Given the description of an element on the screen output the (x, y) to click on. 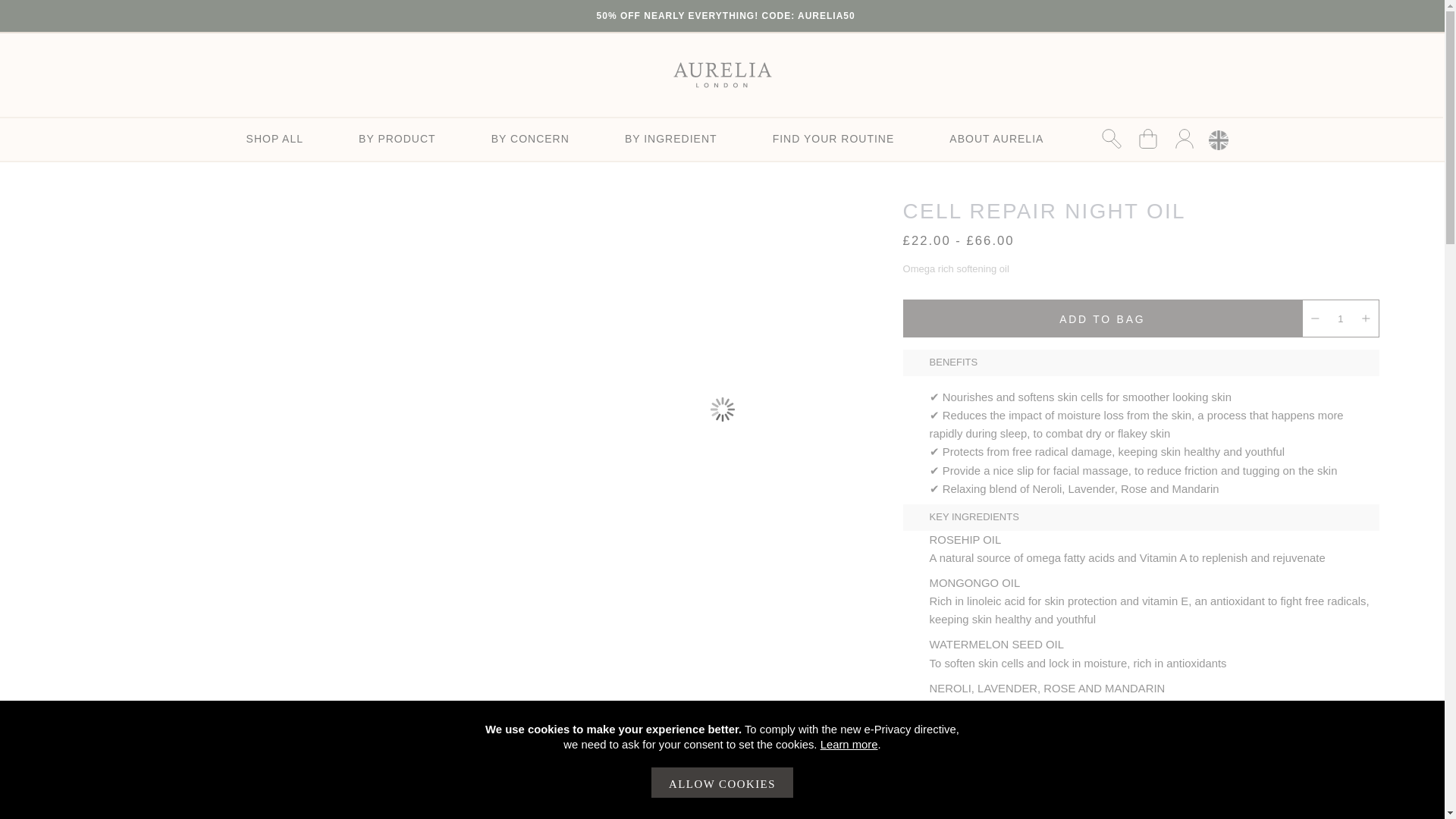
CODE: AURELIA50 (807, 15)
Add to Bag (1101, 318)
Aurelia London Probiotic Skincare (722, 75)
SHOP ALL (274, 138)
Aurelia London Probiotic Skincare (721, 74)
BY CONCERN (530, 138)
BY PRODUCT (396, 138)
ALLOW COOKIES (721, 782)
Learn more (849, 744)
